Given the description of an element on the screen output the (x, y) to click on. 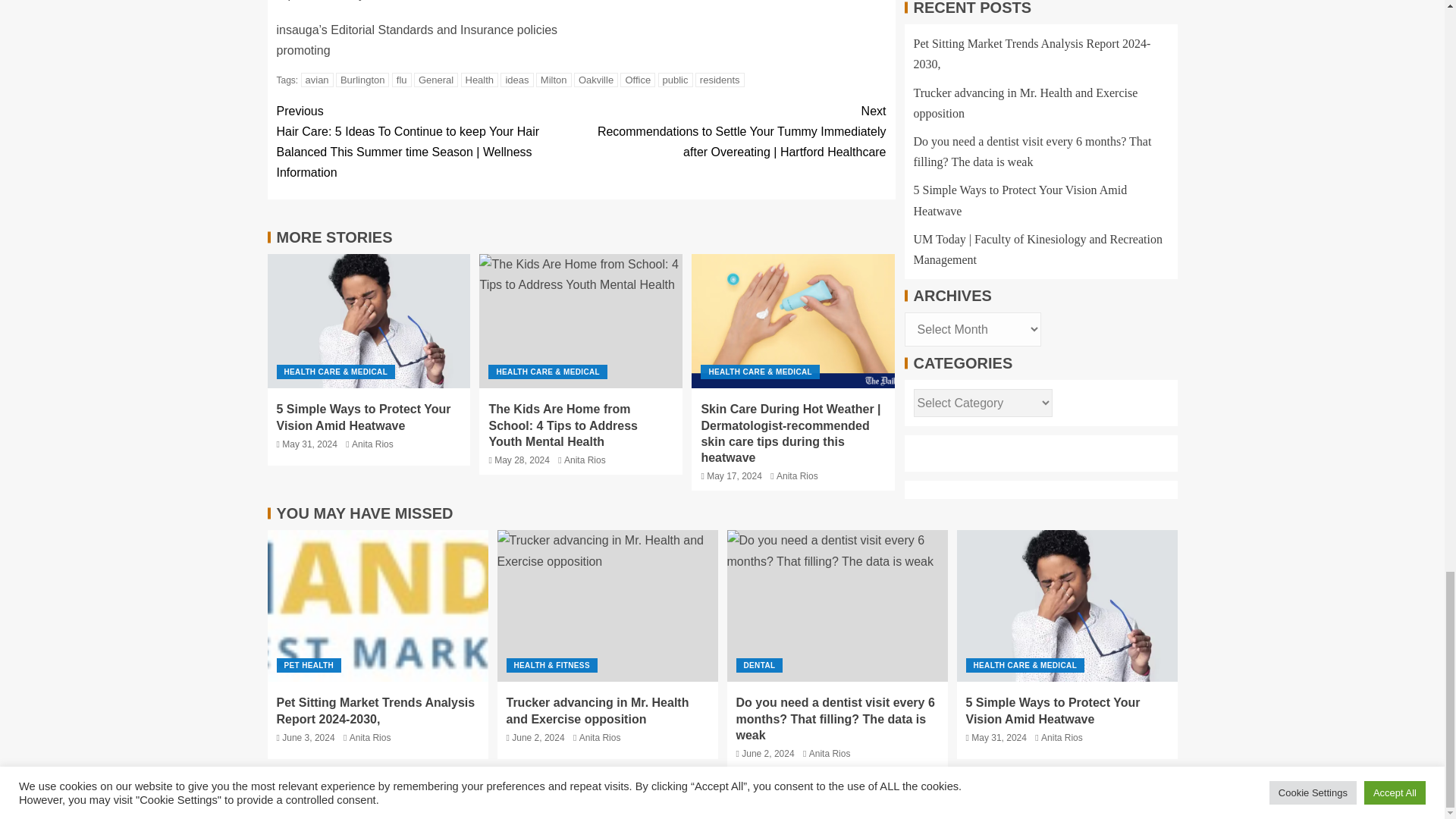
residents (719, 79)
public (675, 79)
5 Simple Ways to Protect Your Vision Amid Heatwave (1066, 605)
Office (637, 79)
Burlington (363, 79)
Health (480, 79)
avian (317, 79)
General (435, 79)
flu (401, 79)
